Given the description of an element on the screen output the (x, y) to click on. 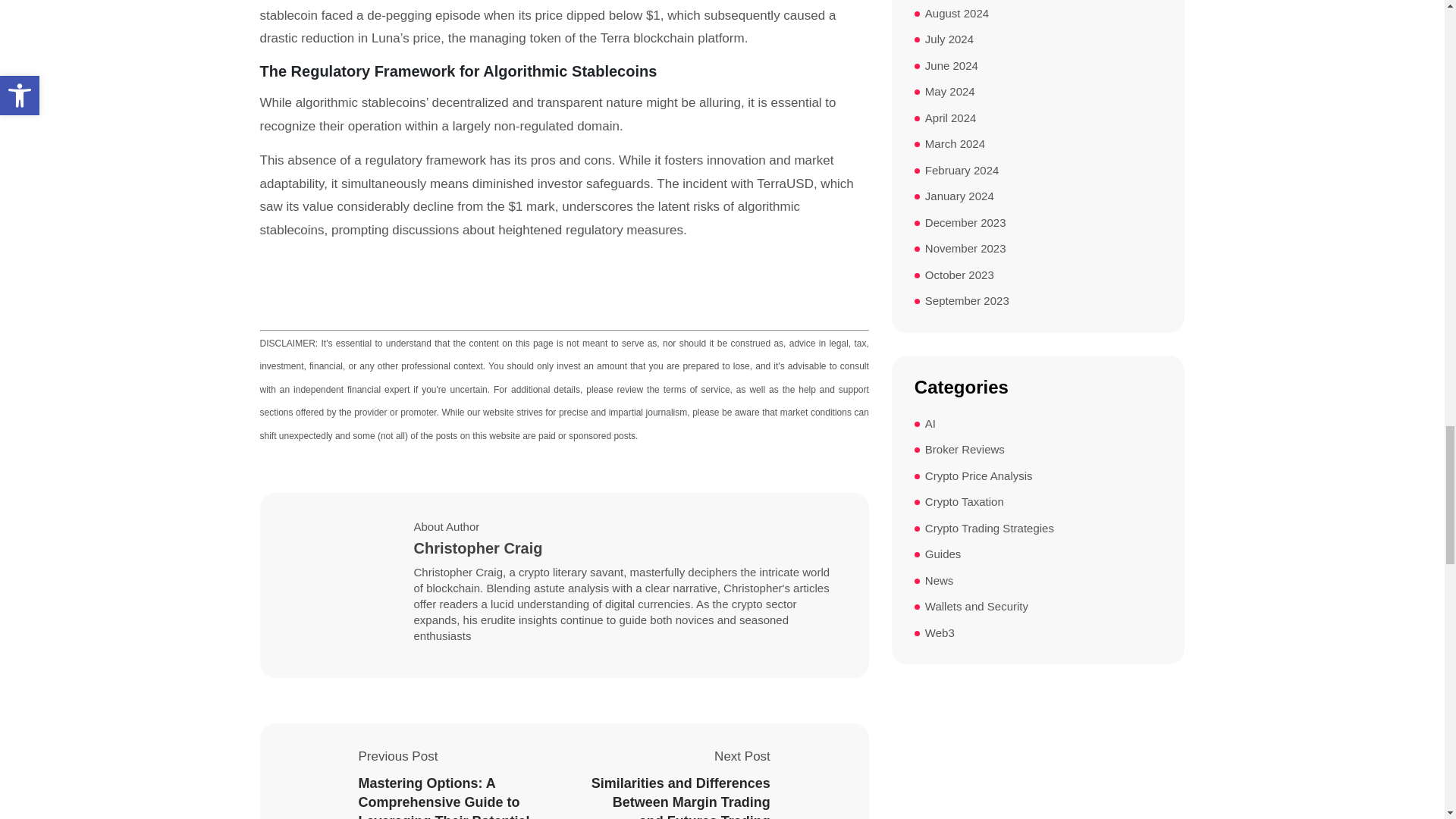
May 2024 (949, 91)
February 2024 (961, 170)
April 2024 (950, 117)
January 2024 (959, 196)
June 2024 (951, 66)
March 2024 (954, 144)
July 2024 (949, 39)
August 2024 (956, 13)
